Given the description of an element on the screen output the (x, y) to click on. 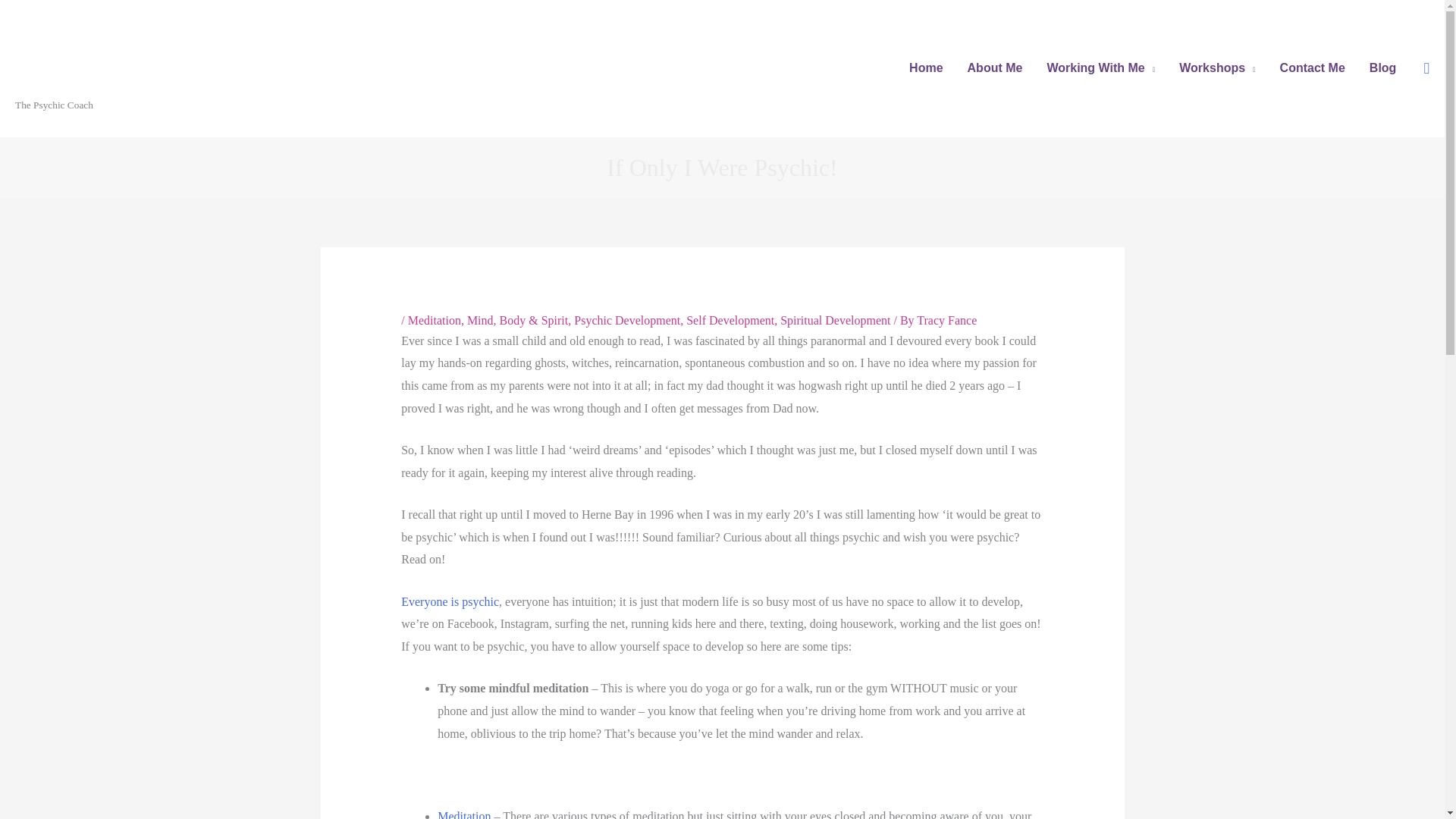
About Me (995, 68)
View all posts by Tracy Fance (946, 319)
Home (925, 68)
Workshops (1216, 68)
Working With Me (1100, 68)
